Given the description of an element on the screen output the (x, y) to click on. 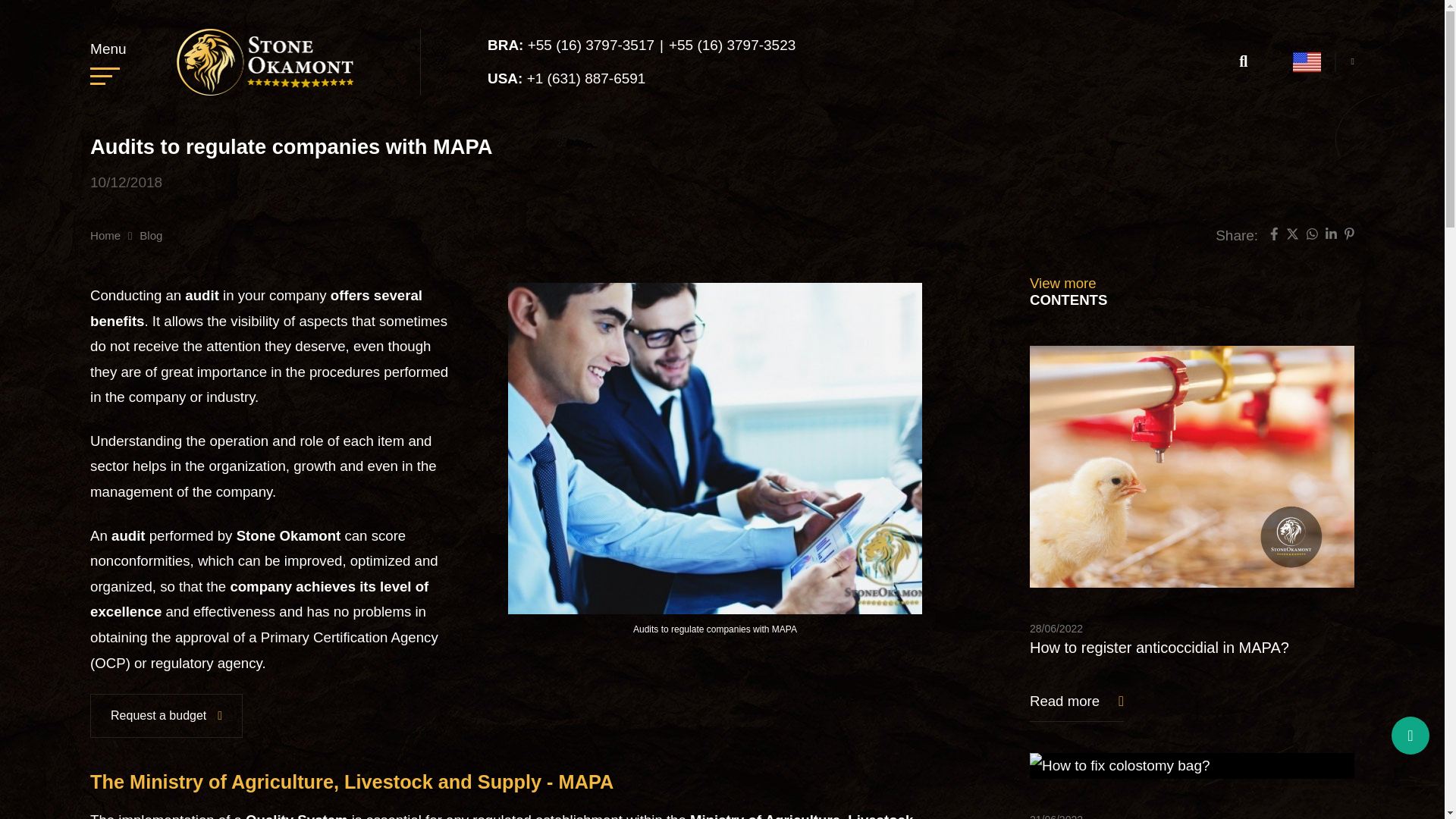
Compartilhar no Pinterest  (1348, 236)
Compartilhar no Twitter  (1291, 236)
Compartilhar no WhatsApp  (1311, 236)
Compartilhar no Linkedin  (1330, 236)
Menu (108, 61)
Compartilhar no Facebook (1273, 236)
English Version (1306, 62)
